Given the description of an element on the screen output the (x, y) to click on. 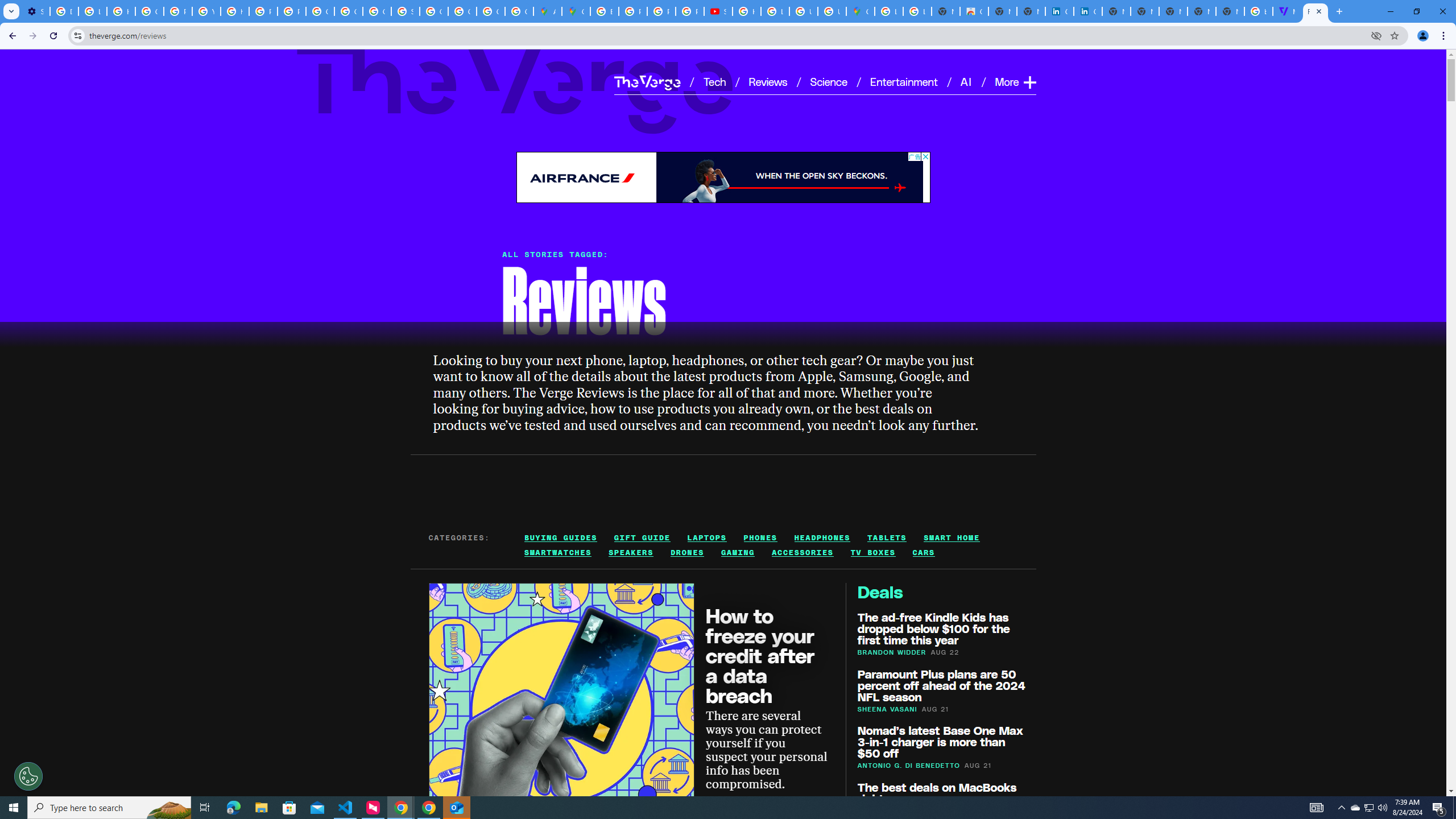
TV BOXES (872, 552)
Sign in - Google Accounts (405, 11)
TABLETS (887, 537)
CARS (923, 552)
Settings - Customize profile (35, 11)
New Tab (1230, 11)
Google Maps (860, 11)
Science (828, 81)
SMARTWATCHES (558, 552)
Reviews - The Verge (1315, 11)
GIFT GUIDE (642, 537)
